Given the description of an element on the screen output the (x, y) to click on. 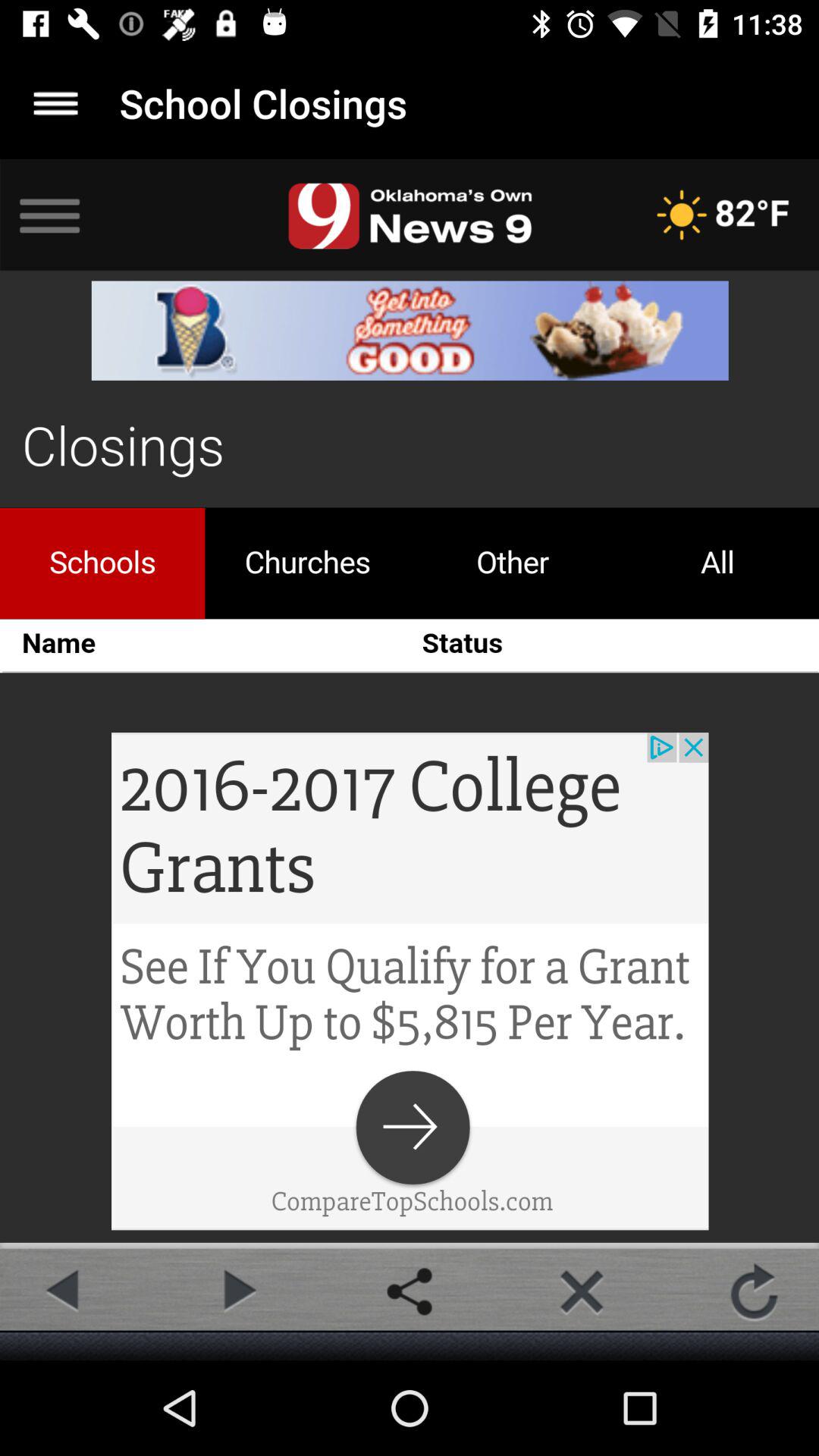
go to next page (237, 1291)
